Given the description of an element on the screen output the (x, y) to click on. 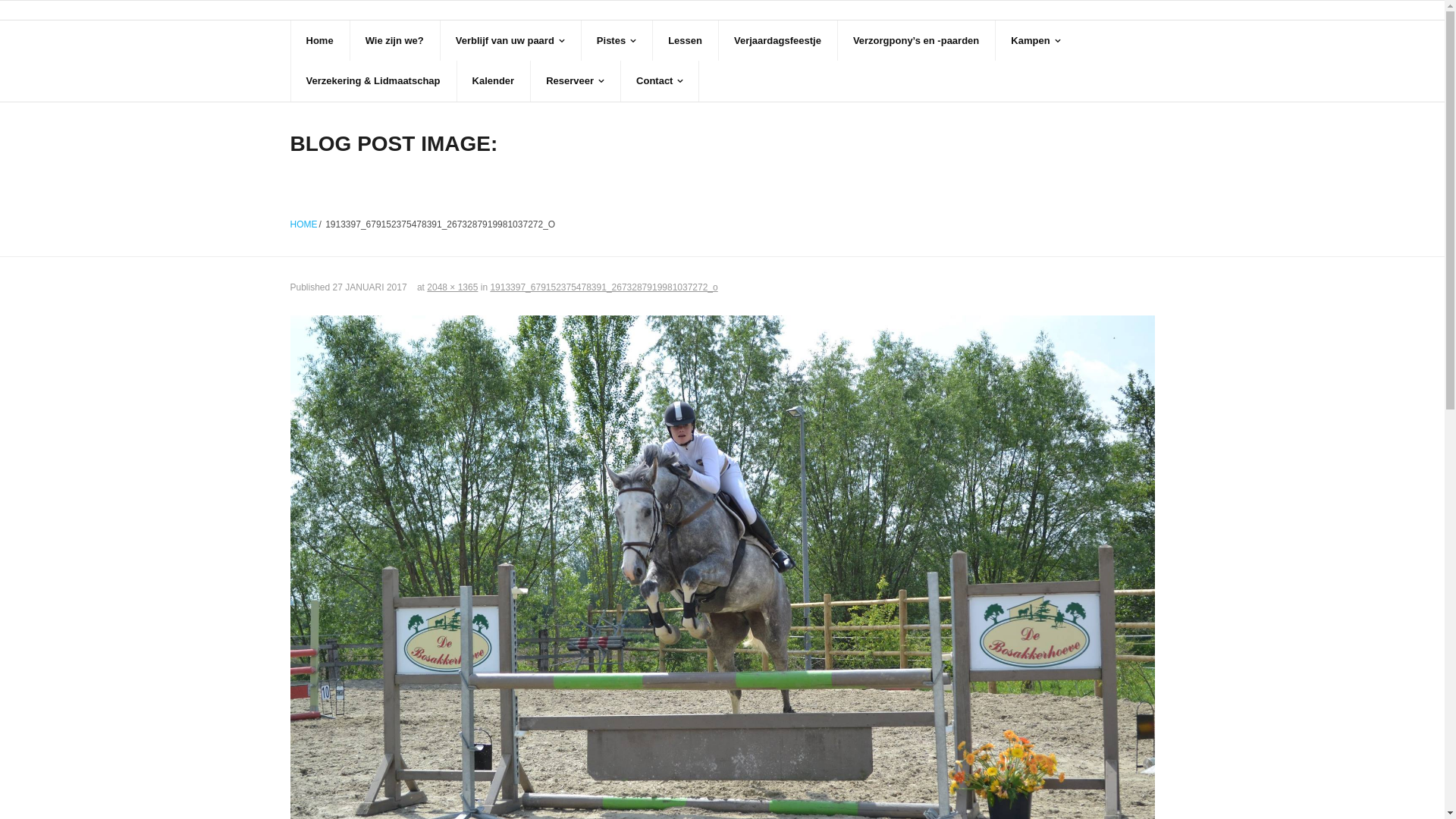
Wie zijn we? Element type: text (394, 40)
Contact Element type: text (659, 80)
Verzekering & Lidmaatschap Element type: text (372, 80)
Verblijf van uw paard Element type: text (509, 40)
HOME Element type: text (302, 224)
Home Element type: text (318, 40)
Pistes Element type: text (616, 40)
Verjaardagsfeestje Element type: text (777, 40)
1913397_679152375478391_2673287919981037272_o Element type: text (603, 287)
Lessen Element type: text (685, 40)
Kalender Element type: text (493, 80)
Reserveer Element type: text (575, 80)
Kampen Element type: text (1035, 40)
